Given the description of an element on the screen output the (x, y) to click on. 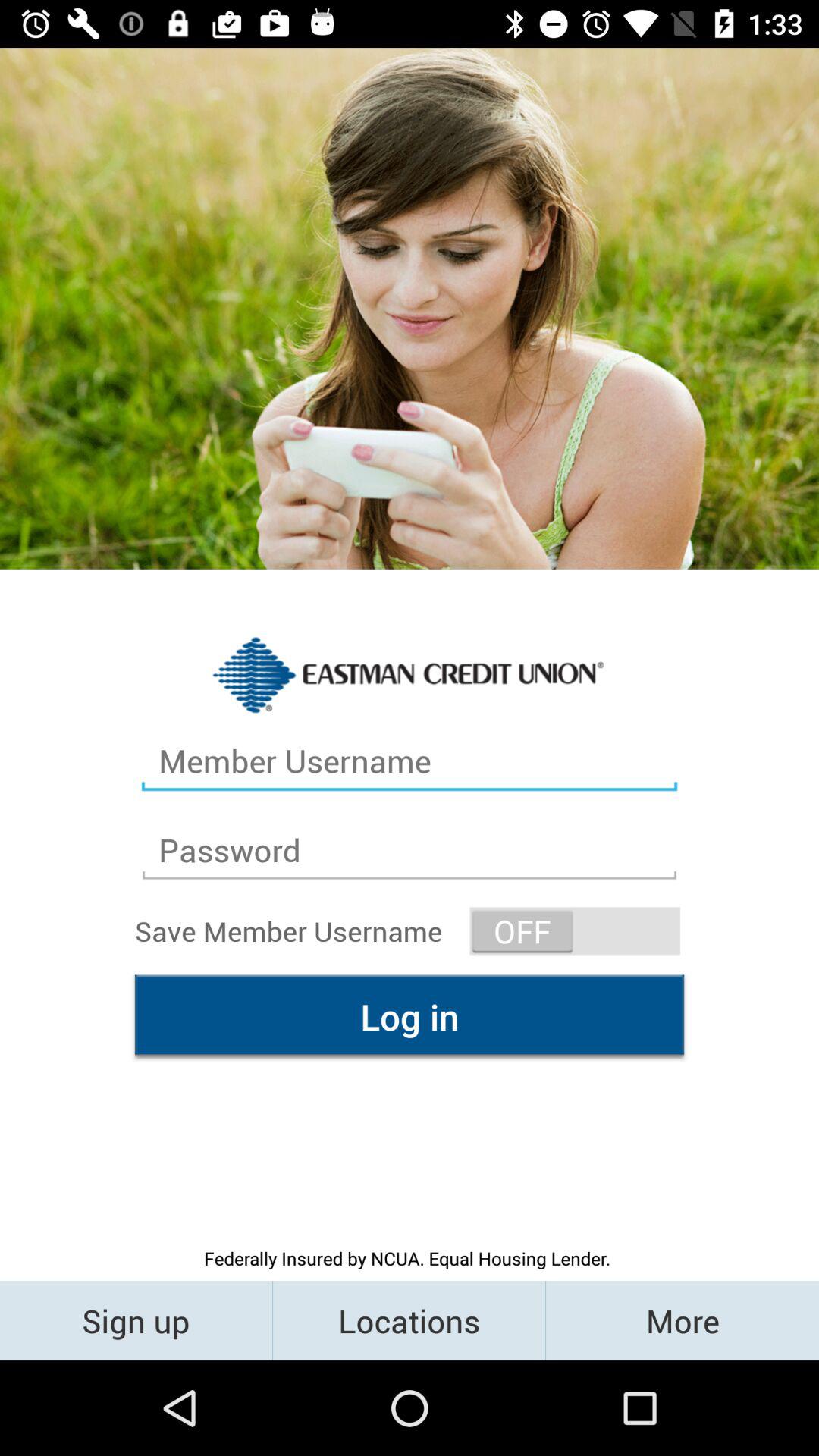
press sign up (136, 1320)
